Given the description of an element on the screen output the (x, y) to click on. 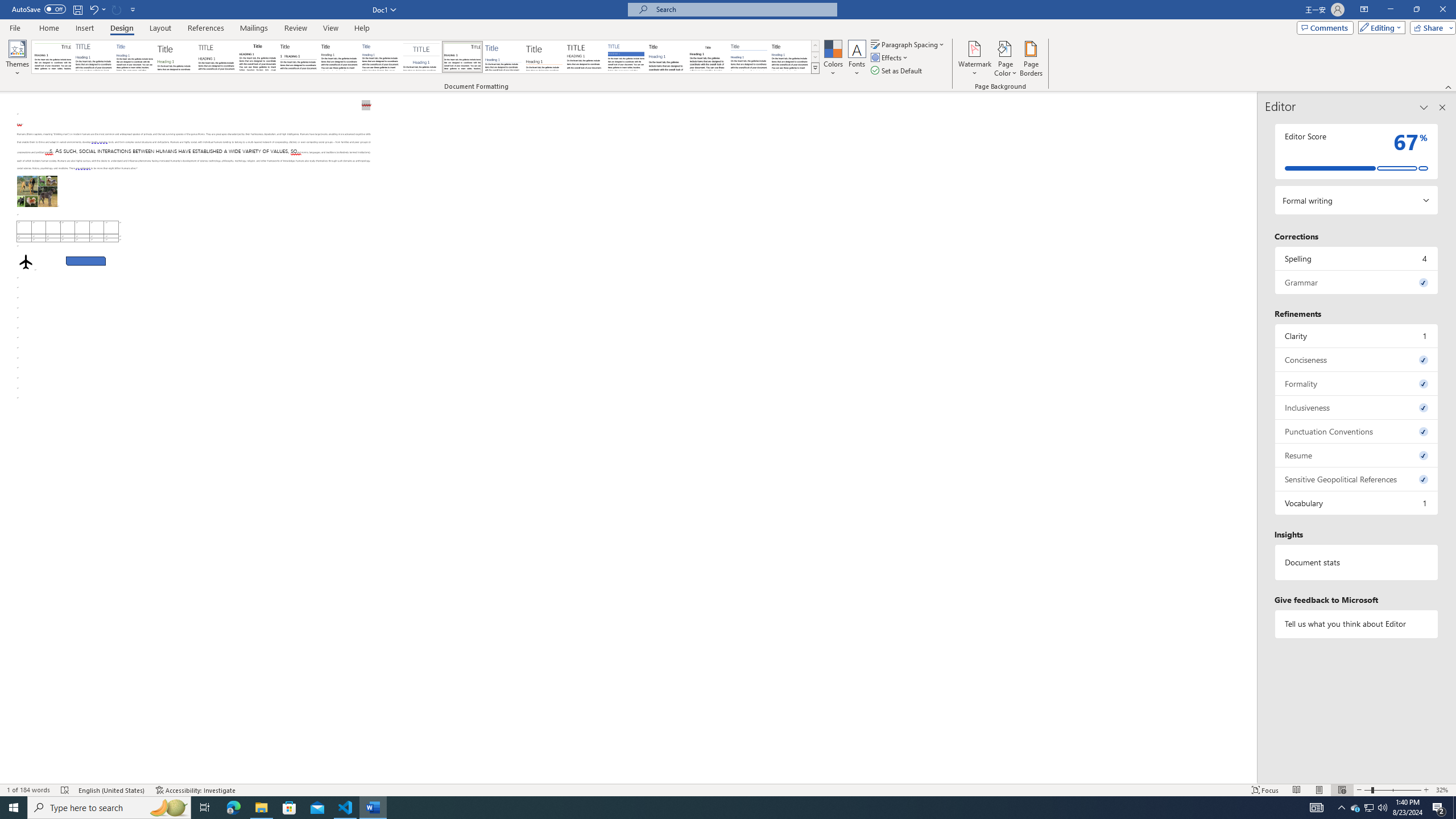
Effects (890, 56)
Paragraph Spacing (908, 44)
Lines (Simple) (503, 56)
Lines (Distinctive) (462, 56)
Casual (379, 56)
Grammar, 0 issues. Press space or enter to review items. (1356, 282)
Shaded (625, 56)
Document statistics (1356, 561)
Tell us what you think about Editor (1356, 624)
